Given the description of an element on the screen output the (x, y) to click on. 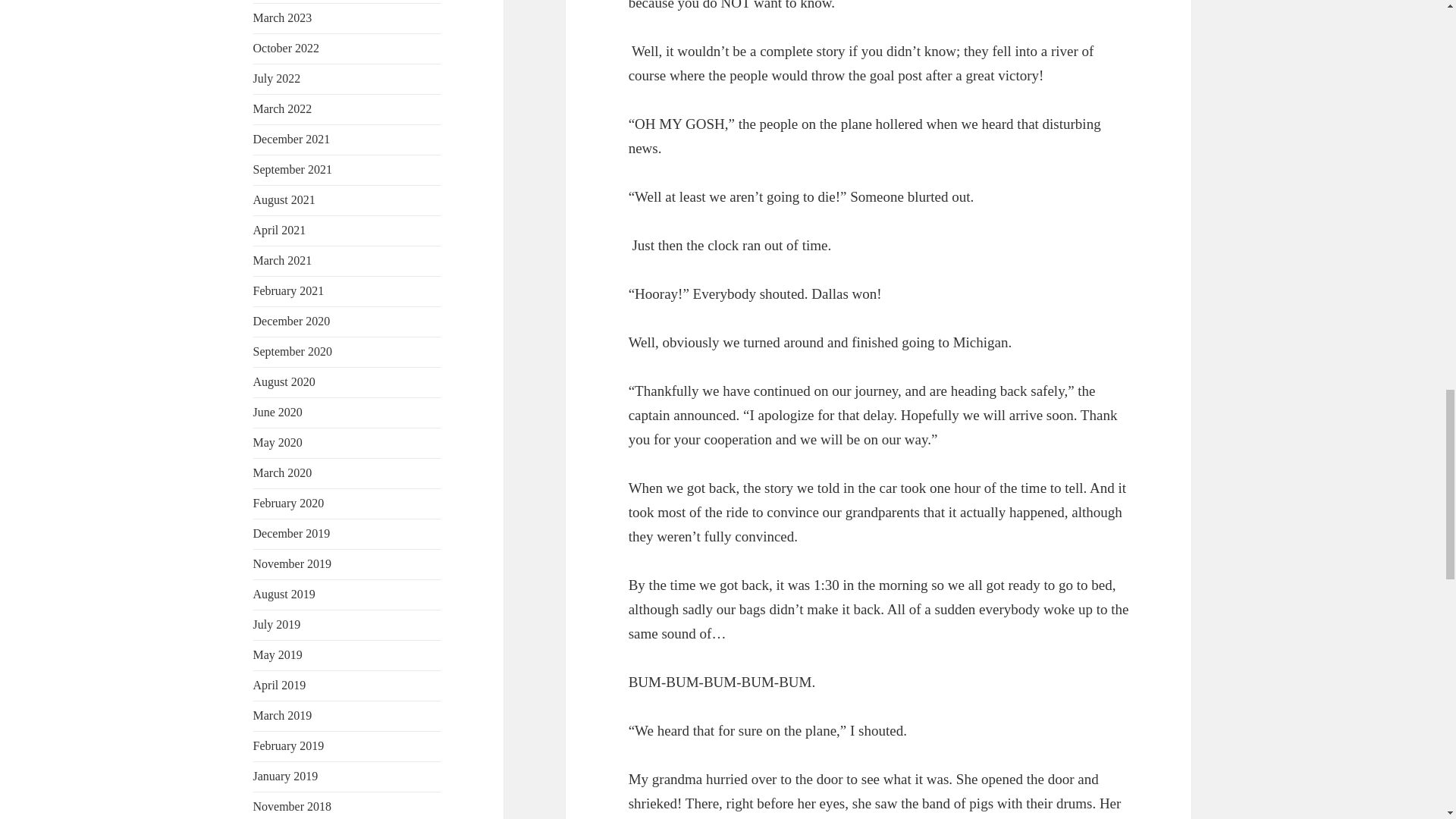
September 2020 (292, 350)
August 2020 (284, 381)
March 2021 (283, 259)
March 2022 (283, 108)
July 2022 (277, 78)
October 2022 (286, 47)
September 2021 (292, 169)
December 2021 (291, 138)
December 2020 (291, 320)
August 2021 (284, 199)
